Given the description of an element on the screen output the (x, y) to click on. 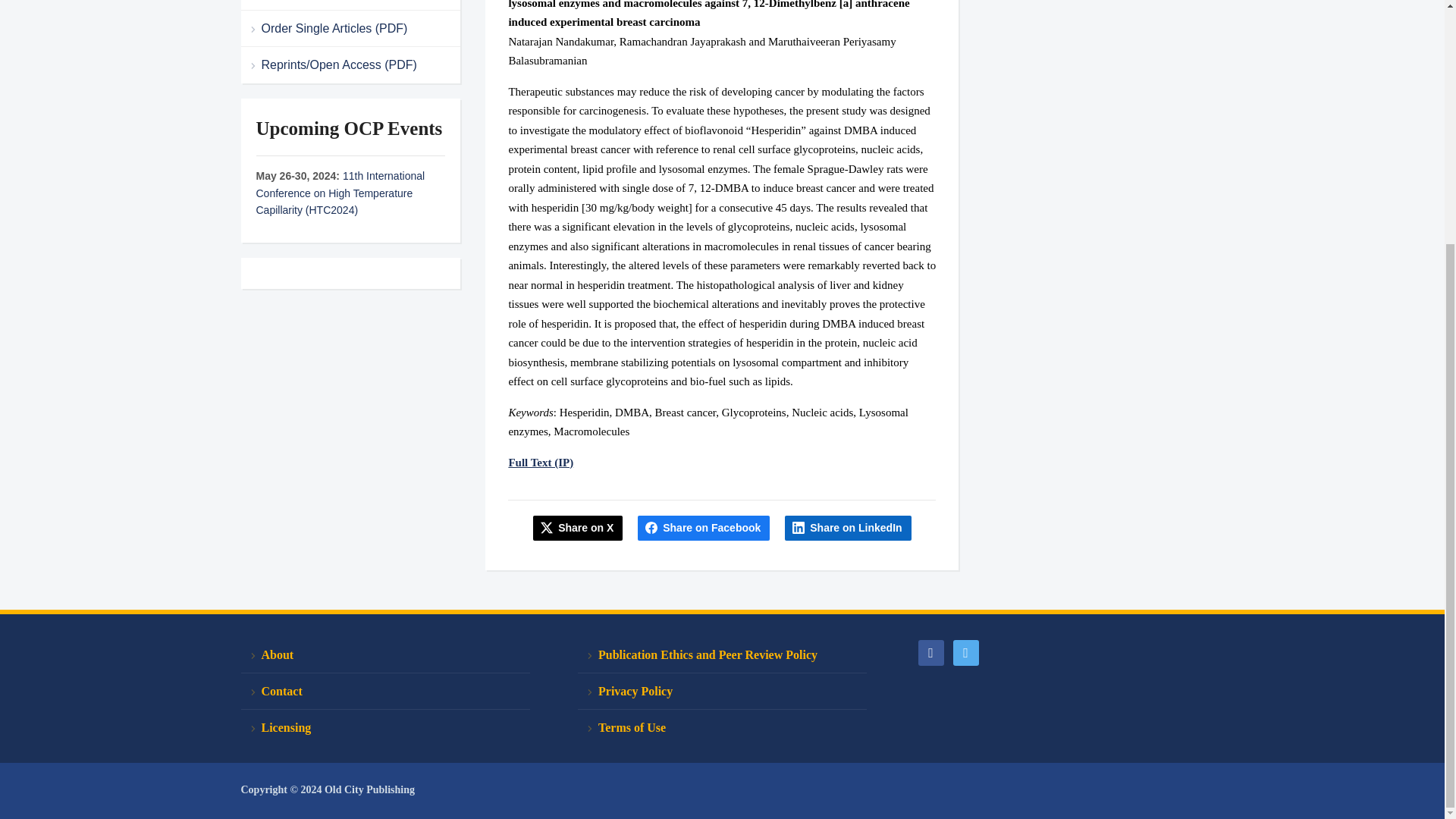
Follow Me (965, 650)
About (385, 655)
Licensing (385, 727)
twitter (965, 650)
Share on Facebook (703, 527)
Terms of Use (722, 727)
Contact (385, 691)
Privacy Policy (722, 691)
Share on LinkedIn (847, 527)
Share on X (577, 527)
Share this on Facebook (703, 527)
Share this on X (577, 527)
facebook (930, 650)
Friend me on Facebook (930, 650)
Share on LinkedIn (847, 527)
